Given the description of an element on the screen output the (x, y) to click on. 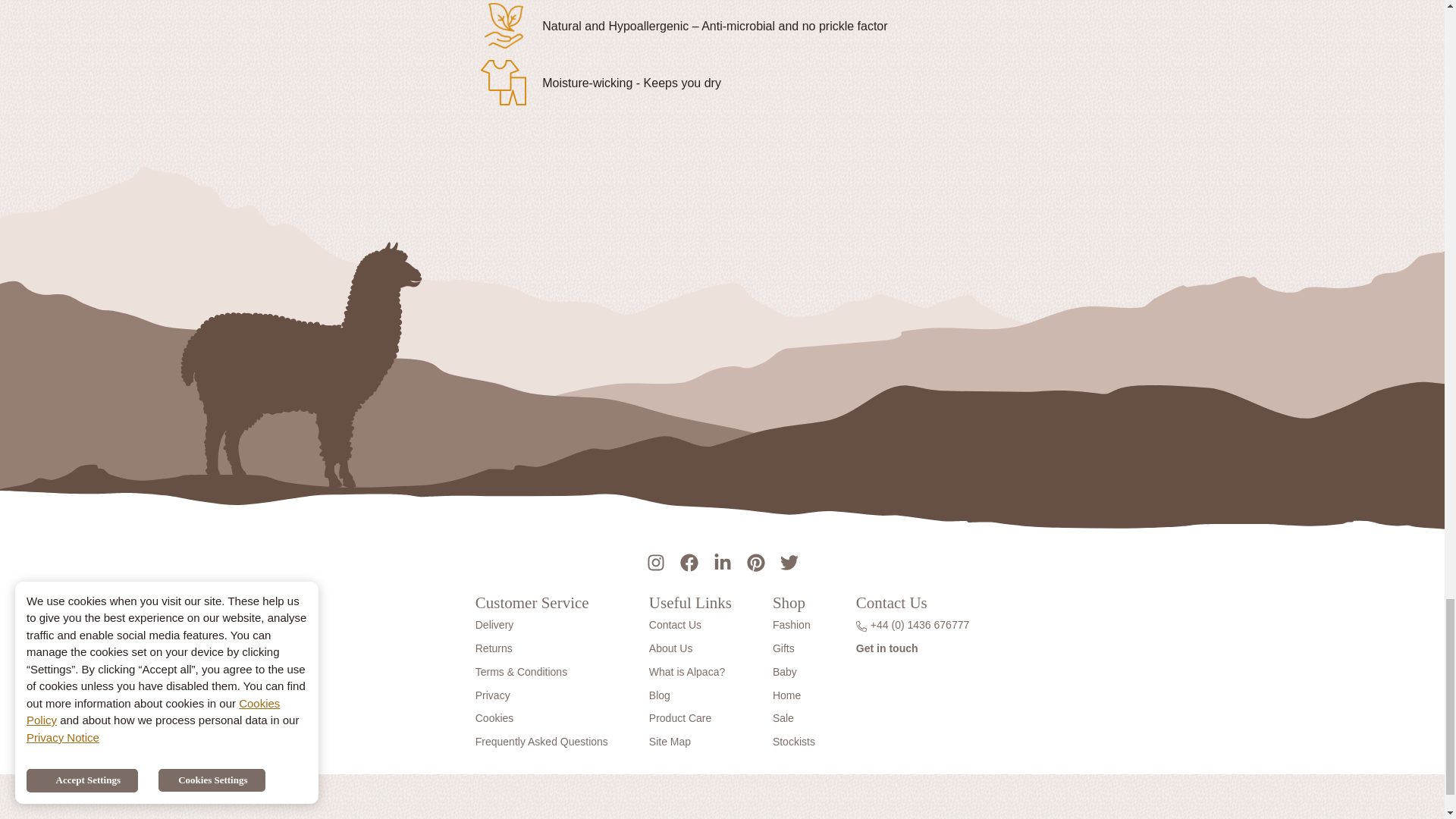
Follow us on Pinterest (754, 560)
Follow us on Instagram (655, 560)
Follow us on Facebook (687, 560)
Follow us on Twitter (788, 560)
Opens in a new window (1002, 818)
Opens in a new window (807, 818)
Follow us on LinkedIn (721, 560)
